Given the description of an element on the screen output the (x, y) to click on. 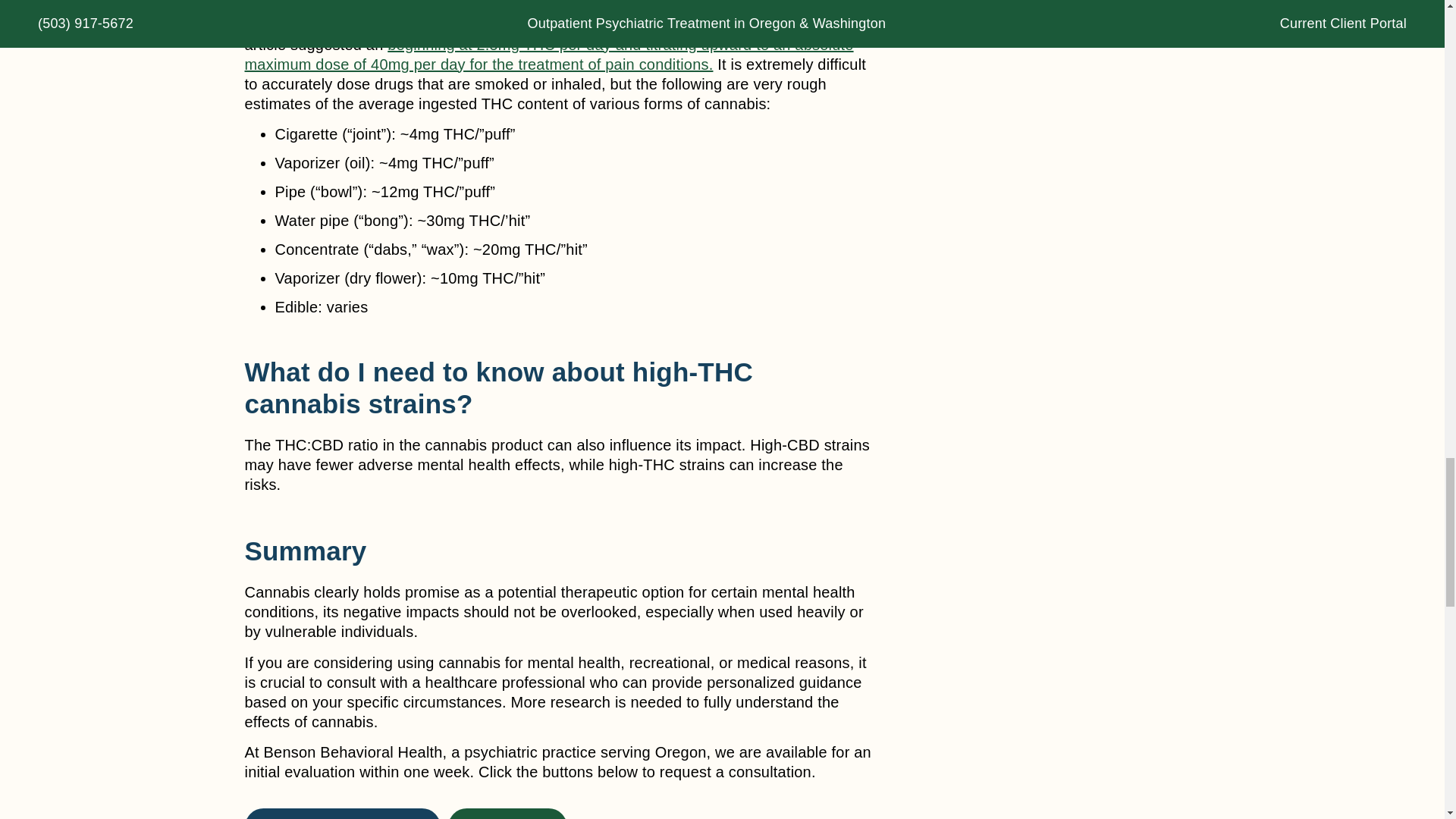
Contact Us (507, 813)
Request An Evaluation (342, 813)
